Given the description of an element on the screen output the (x, y) to click on. 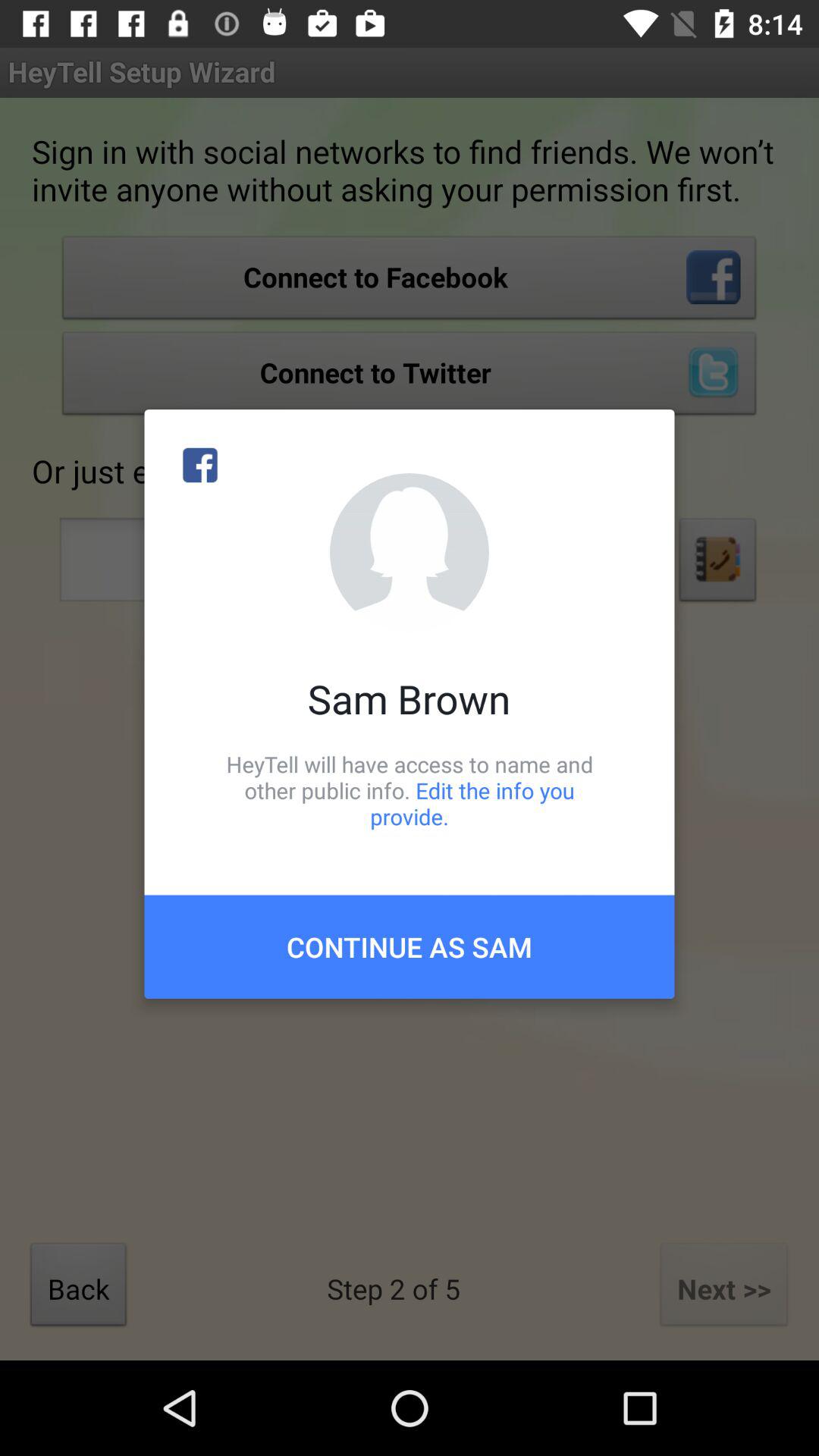
scroll to the heytell will have item (409, 790)
